Given the description of an element on the screen output the (x, y) to click on. 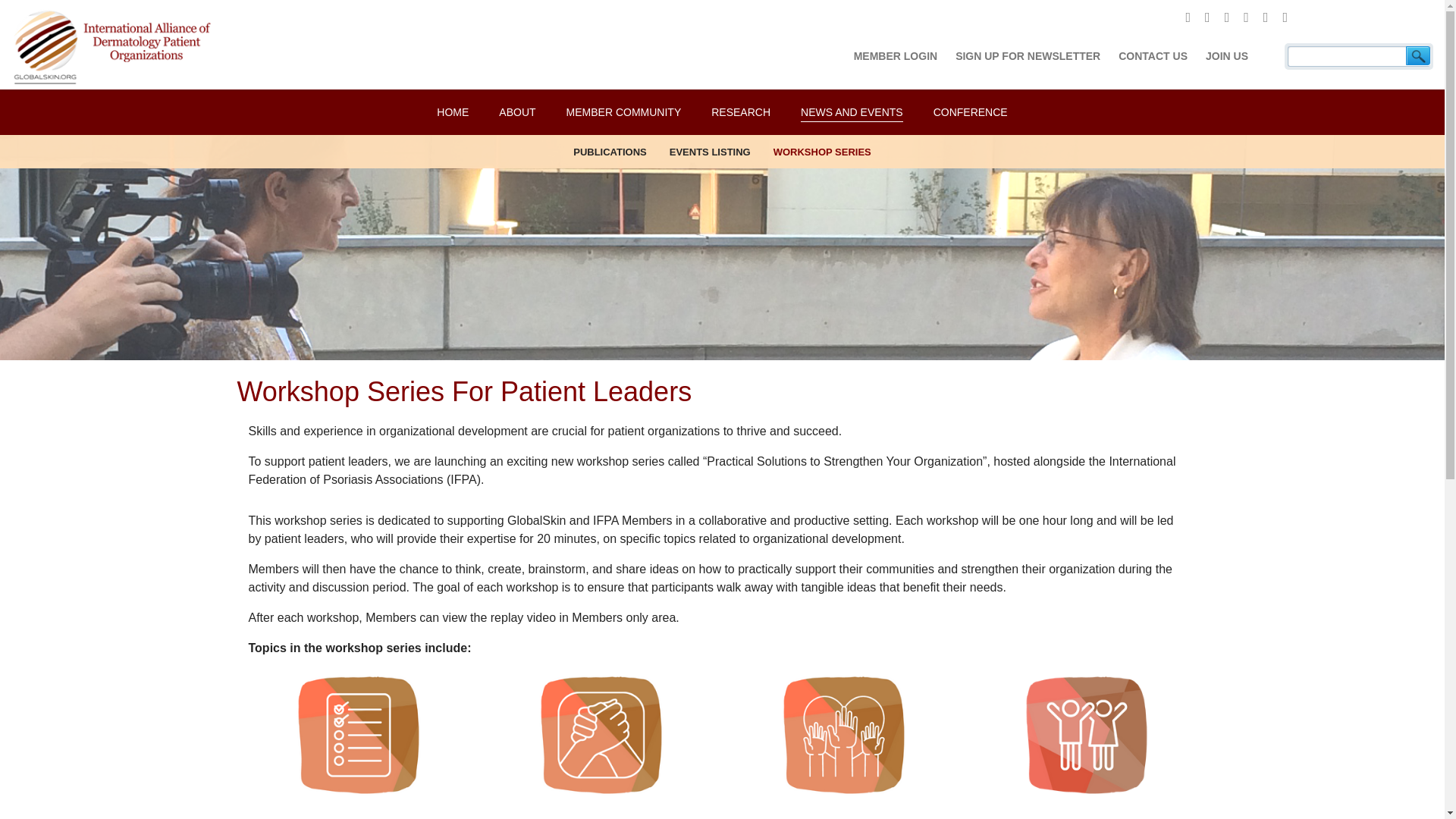
ABOUT (517, 112)
JOIN US (1226, 55)
MEMBER LOGIN (895, 55)
RESEARCH (740, 112)
SIGN UP FOR NEWSLETTER (1027, 55)
CONTACT US (1153, 55)
HOME (452, 112)
MEMBER COMMUNITY (623, 112)
